Given the description of an element on the screen output the (x, y) to click on. 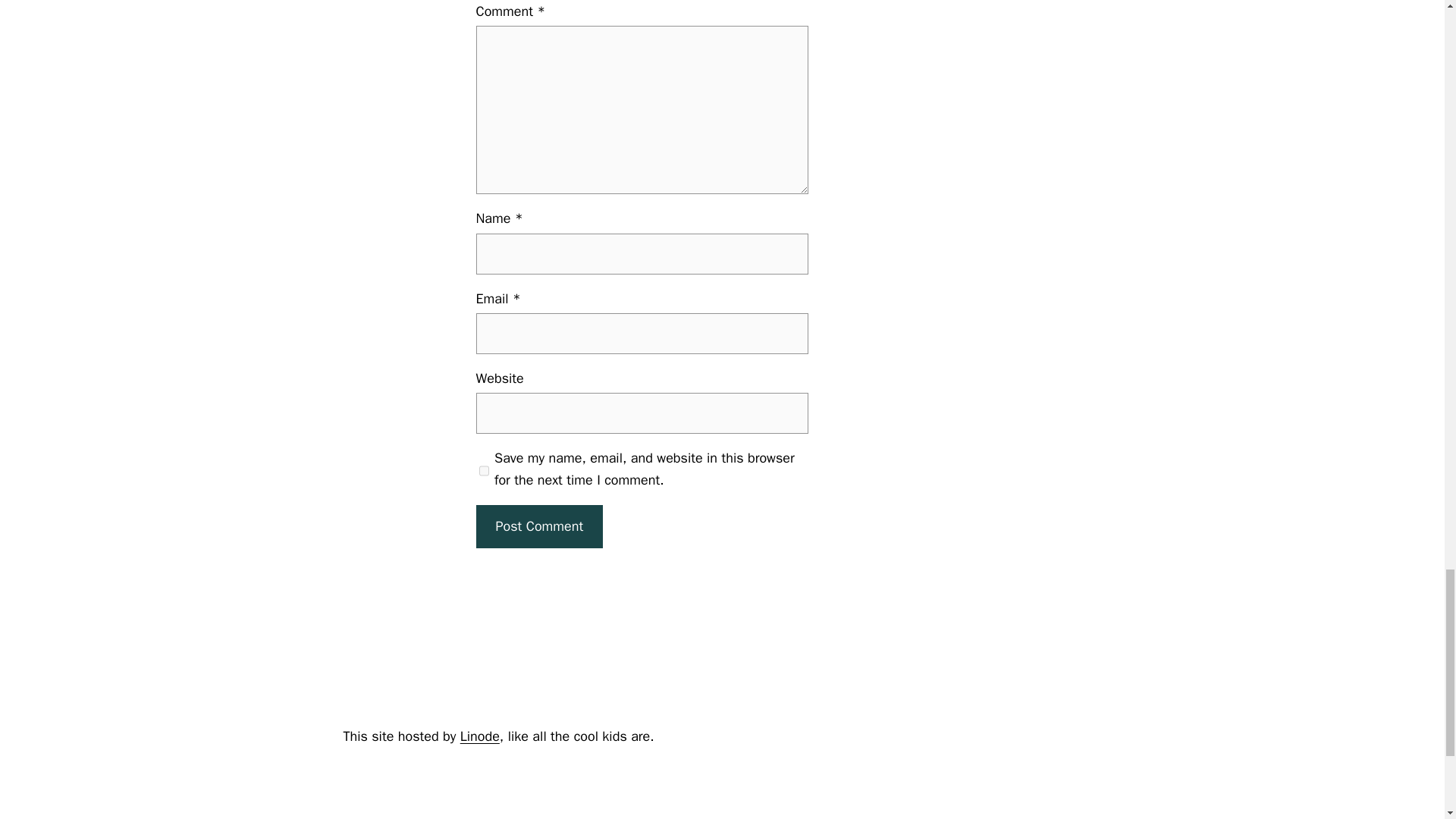
Post Comment (540, 526)
Post Comment (540, 526)
